Given the description of an element on the screen output the (x, y) to click on. 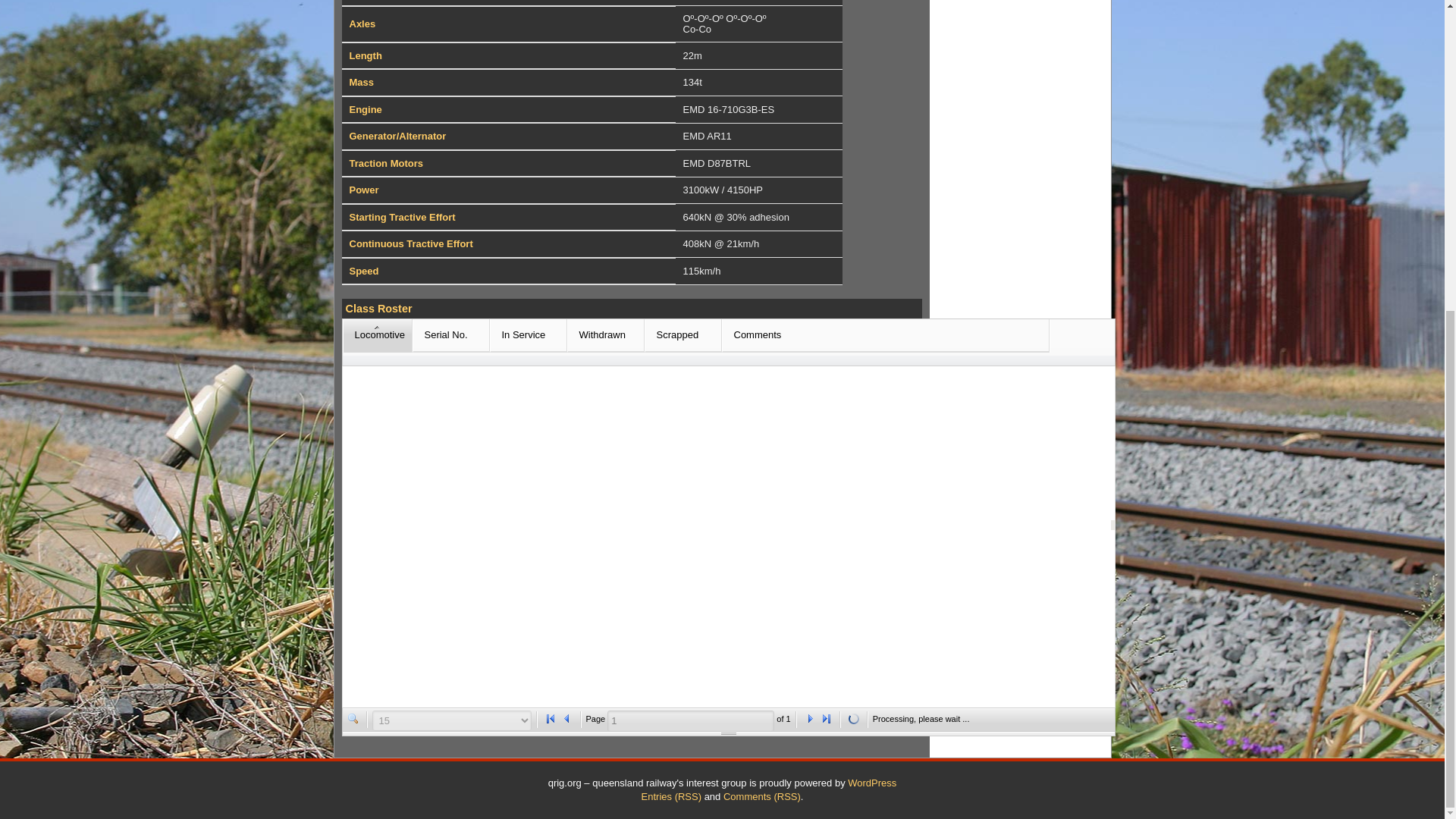
WordPress (871, 782)
1 (690, 721)
